Given the description of an element on the screen output the (x, y) to click on. 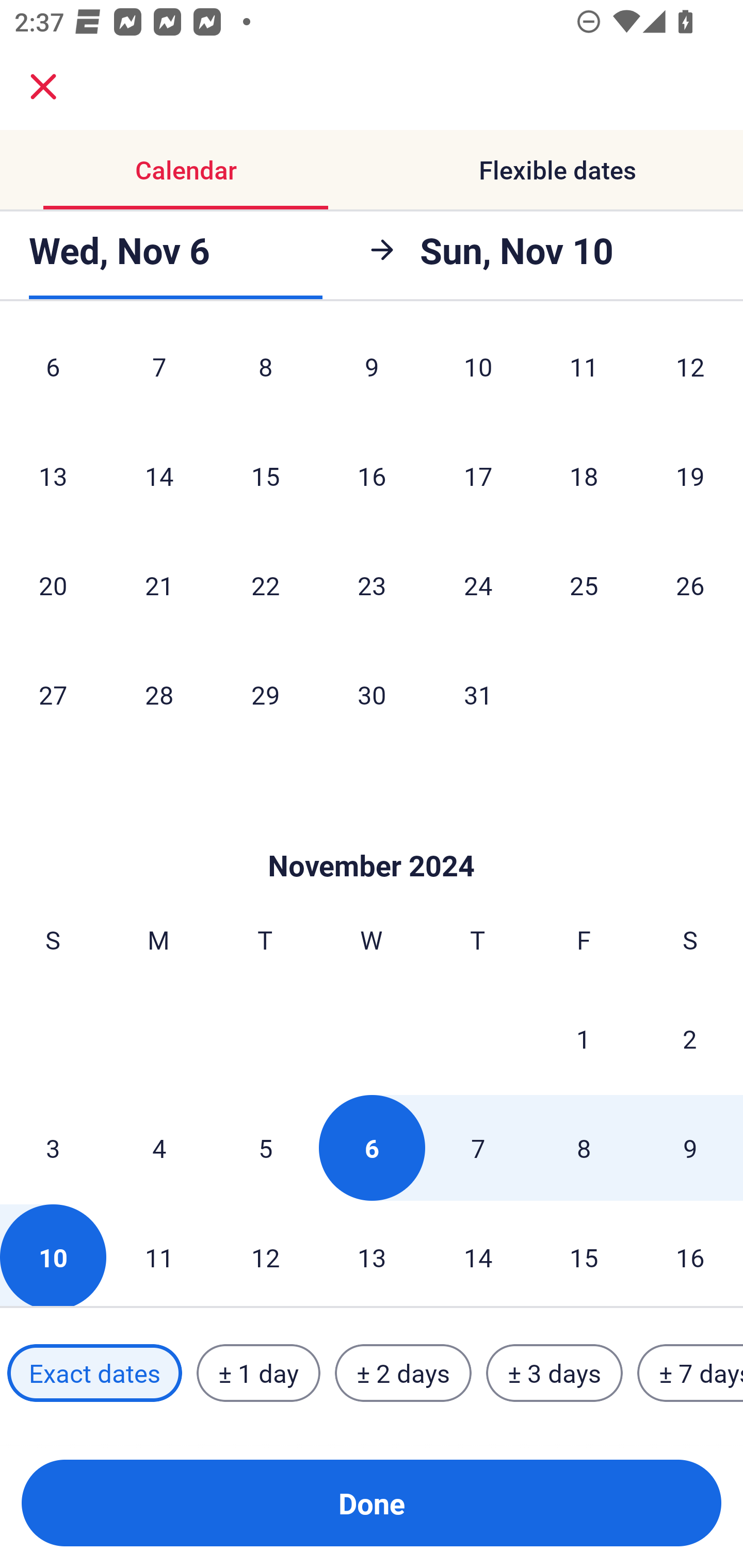
close. (43, 86)
Flexible dates (557, 170)
6 Sunday, October 6, 2024 (53, 374)
7 Monday, October 7, 2024 (159, 374)
8 Tuesday, October 8, 2024 (265, 374)
9 Wednesday, October 9, 2024 (371, 374)
10 Thursday, October 10, 2024 (477, 374)
11 Friday, October 11, 2024 (584, 374)
12 Saturday, October 12, 2024 (690, 374)
13 Sunday, October 13, 2024 (53, 475)
14 Monday, October 14, 2024 (159, 475)
15 Tuesday, October 15, 2024 (265, 475)
16 Wednesday, October 16, 2024 (371, 475)
17 Thursday, October 17, 2024 (477, 475)
18 Friday, October 18, 2024 (584, 475)
19 Saturday, October 19, 2024 (690, 475)
20 Sunday, October 20, 2024 (53, 584)
21 Monday, October 21, 2024 (159, 584)
22 Tuesday, October 22, 2024 (265, 584)
23 Wednesday, October 23, 2024 (371, 584)
24 Thursday, October 24, 2024 (477, 584)
25 Friday, October 25, 2024 (584, 584)
26 Saturday, October 26, 2024 (690, 584)
27 Sunday, October 27, 2024 (53, 694)
28 Monday, October 28, 2024 (159, 694)
29 Tuesday, October 29, 2024 (265, 694)
30 Wednesday, October 30, 2024 (371, 694)
31 Thursday, October 31, 2024 (477, 694)
Skip to Done (371, 834)
1 Friday, November 1, 2024 (583, 1038)
2 Saturday, November 2, 2024 (689, 1038)
3 Sunday, November 3, 2024 (53, 1147)
4 Monday, November 4, 2024 (159, 1147)
5 Tuesday, November 5, 2024 (265, 1147)
11 Monday, November 11, 2024 (159, 1255)
12 Tuesday, November 12, 2024 (265, 1255)
13 Wednesday, November 13, 2024 (371, 1255)
14 Thursday, November 14, 2024 (477, 1255)
15 Friday, November 15, 2024 (584, 1255)
16 Saturday, November 16, 2024 (690, 1255)
Exact dates (94, 1372)
± 1 day (258, 1372)
± 2 days (403, 1372)
± 3 days (553, 1372)
± 7 days (690, 1372)
Done (371, 1502)
